Given the description of an element on the screen output the (x, y) to click on. 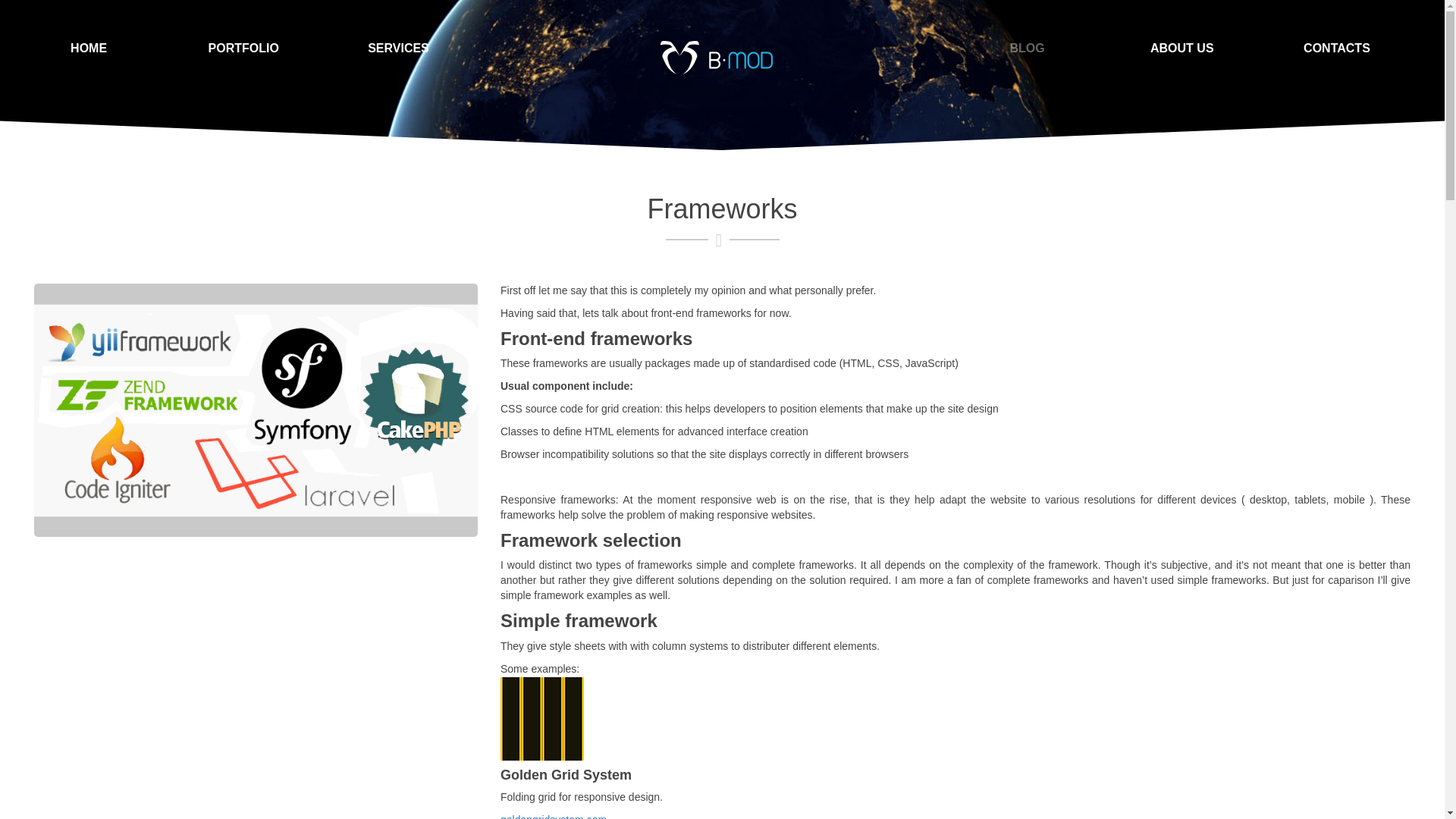
BLOG (1026, 46)
goldengridsystem.com  (555, 816)
HOME (87, 41)
ABOUT US (1182, 46)
SERVICES (397, 45)
CONTACTS (1336, 47)
PORTFOLIO (243, 43)
